Given the description of an element on the screen output the (x, y) to click on. 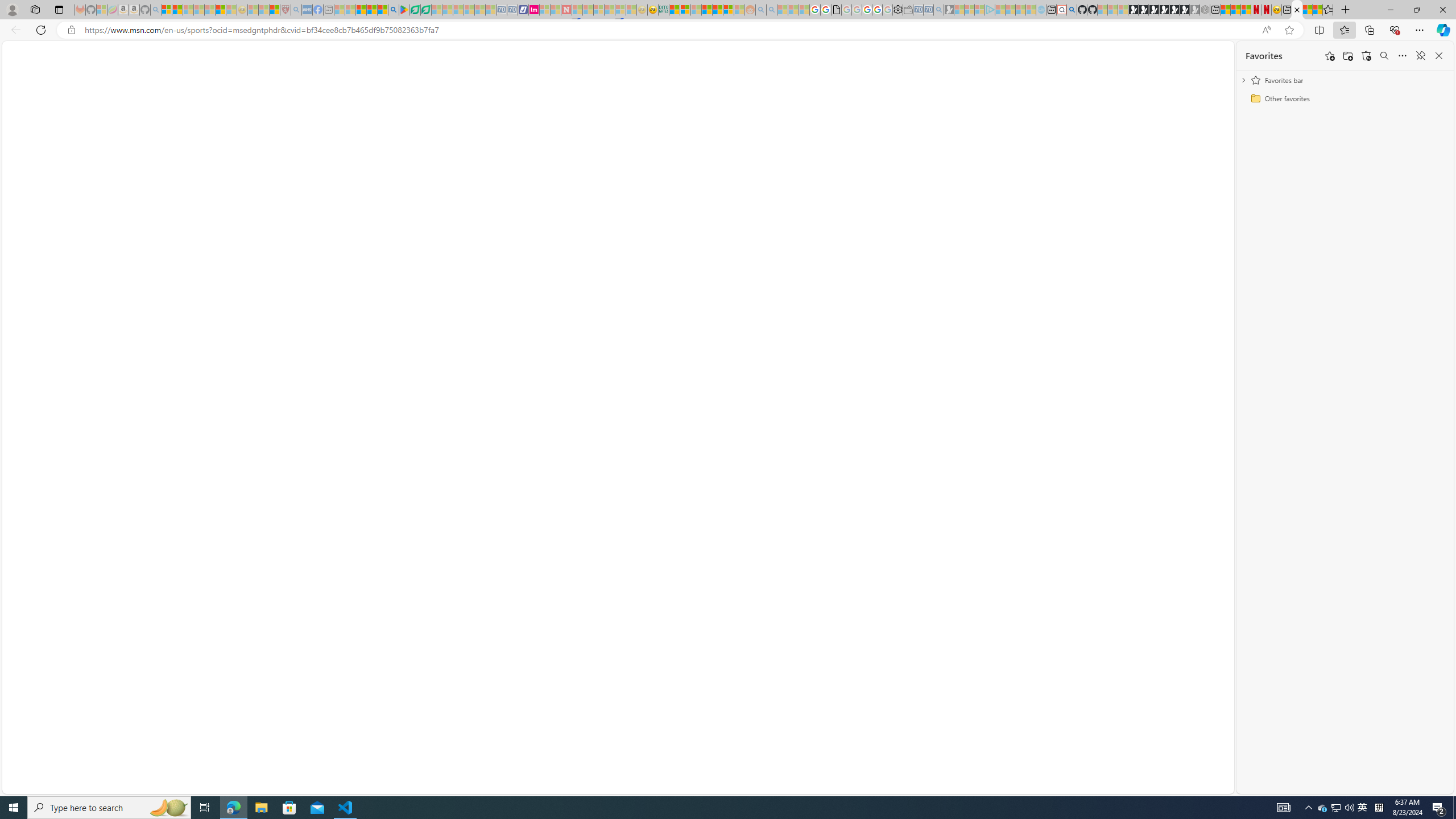
Wildlife - MSN (1307, 9)
Kinda Frugal - MSN (717, 9)
Bluey: Let's Play! - Apps on Google Play (404, 9)
Expert Portfolios (707, 9)
